Given the description of an element on the screen output the (x, y) to click on. 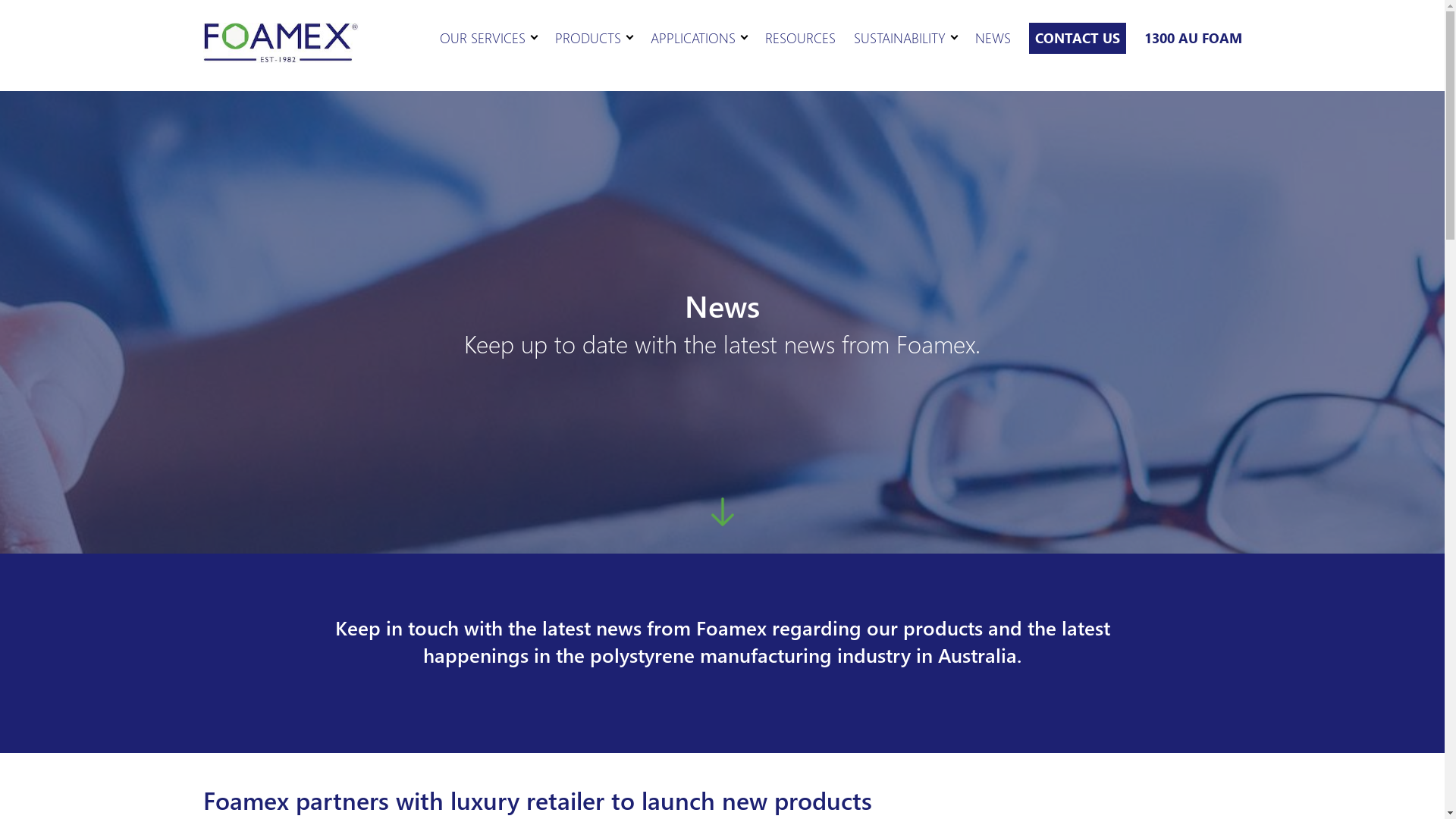
APPLICATIONS Element type: text (692, 39)
SUSTAINABILITY Element type: text (899, 39)
CONTACT US Element type: text (1076, 37)
NEWS Element type: text (992, 39)
RESOURCES Element type: text (799, 39)
1300 AU FOAM Element type: text (1192, 39)
OUR SERVICES Element type: text (482, 39)
PRODUCTS Element type: text (588, 39)
